Given the description of an element on the screen output the (x, y) to click on. 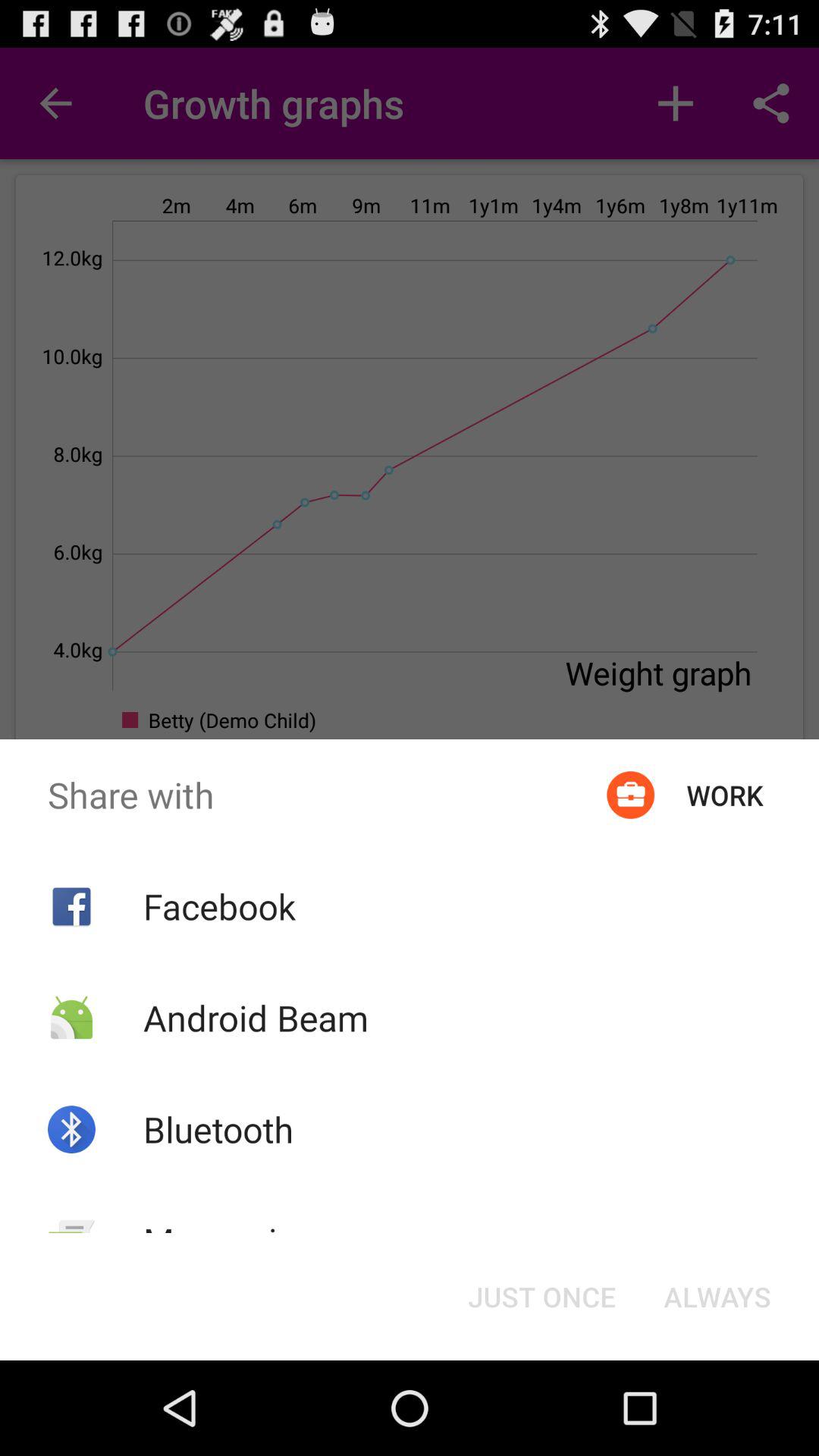
turn off the icon above the messaging icon (218, 1129)
